Given the description of an element on the screen output the (x, y) to click on. 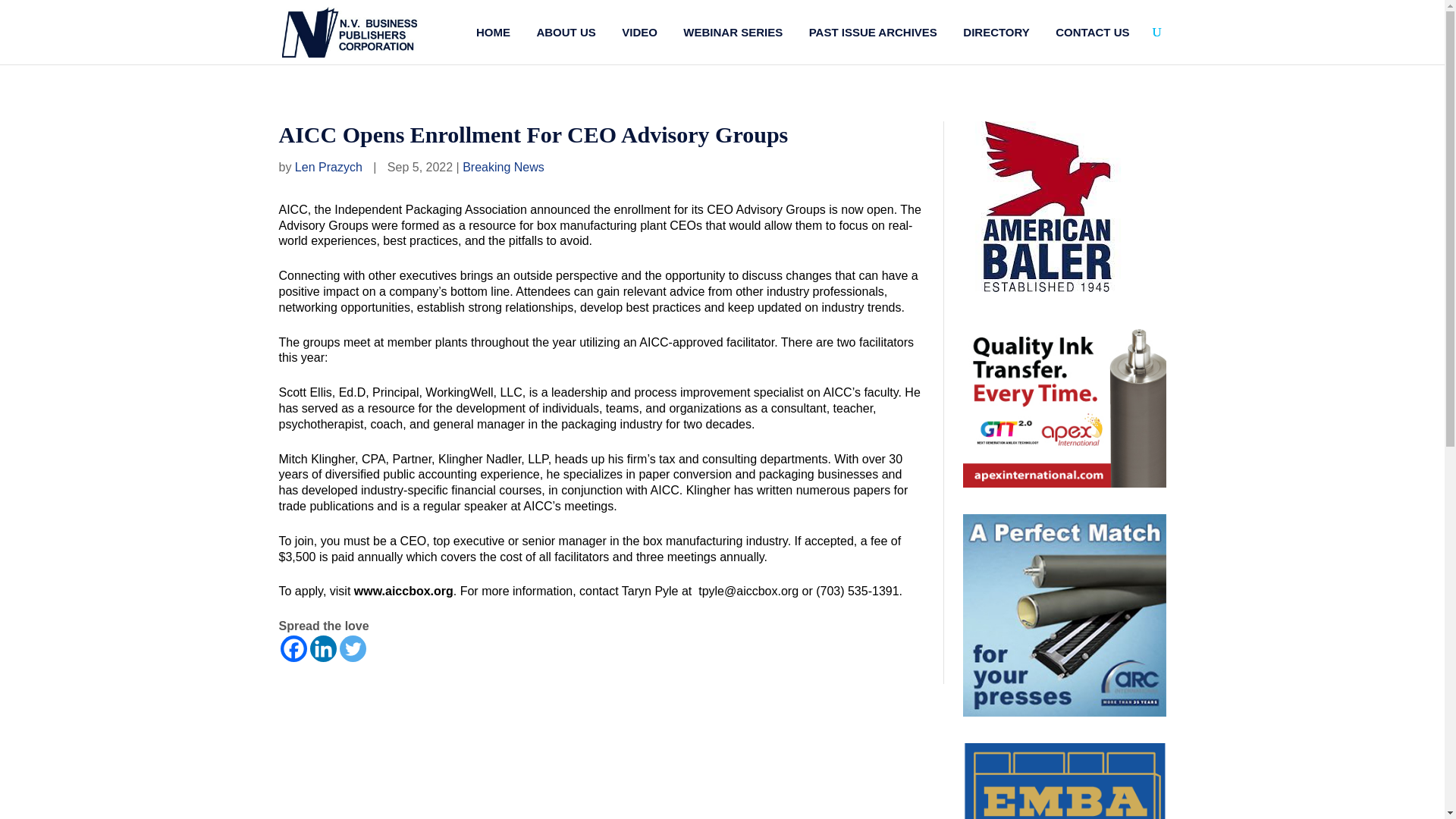
Linkedin (322, 648)
HOME (493, 31)
Posts by Len Prazych (328, 166)
Facebook (294, 648)
Breaking News (503, 166)
PAST ISSUE ARCHIVES (873, 31)
CONTACT US (1092, 31)
DIRECTORY (995, 31)
WEBINAR SERIES (732, 31)
ABOUT US (565, 31)
